Given the description of an element on the screen output the (x, y) to click on. 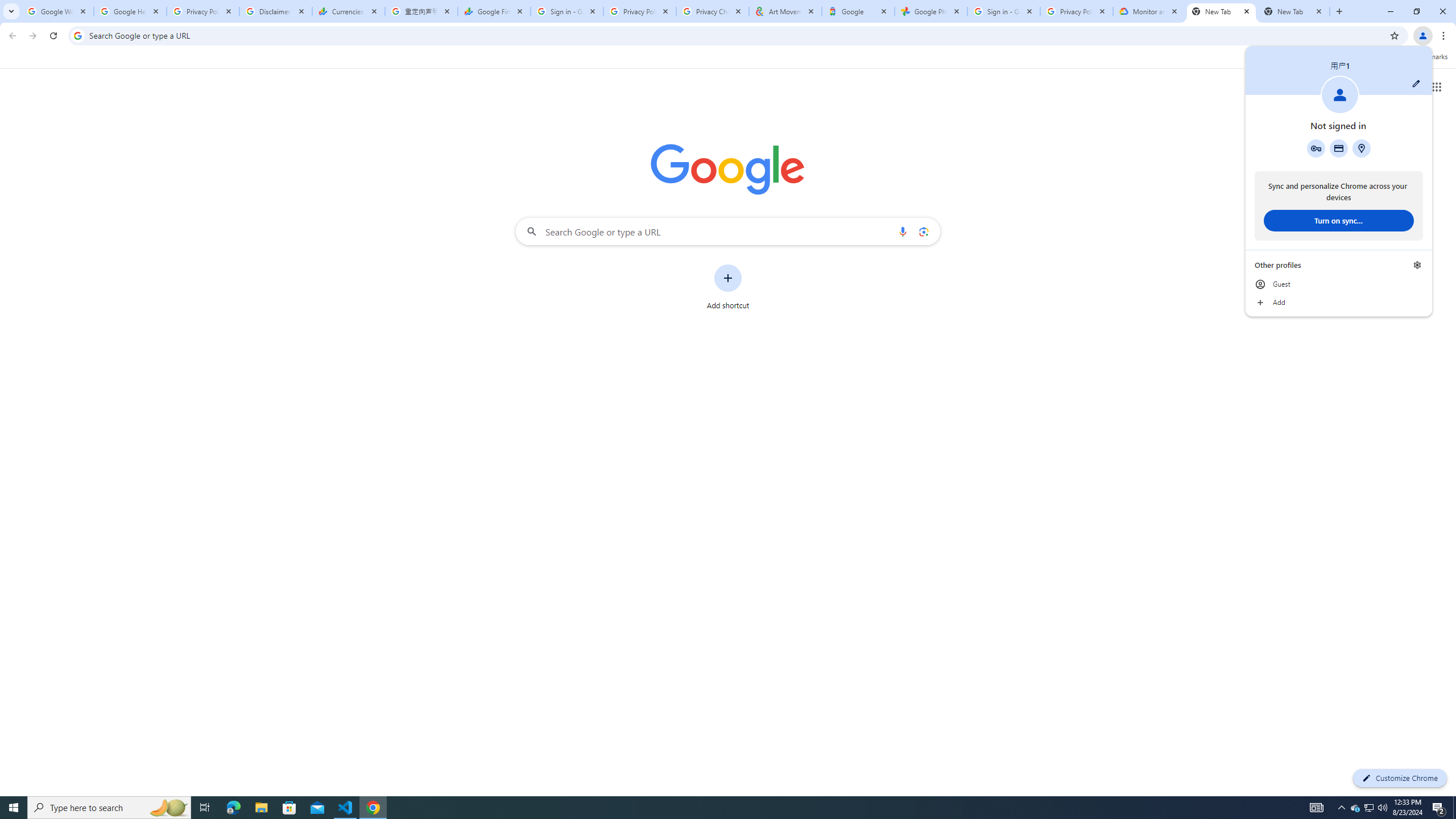
File Explorer (261, 807)
Currencies - Google Finance (348, 11)
Google (857, 11)
Start (13, 807)
Sign in - Google Accounts (566, 11)
Type here to search (108, 807)
Addresses and more (1361, 148)
